Given the description of an element on the screen output the (x, y) to click on. 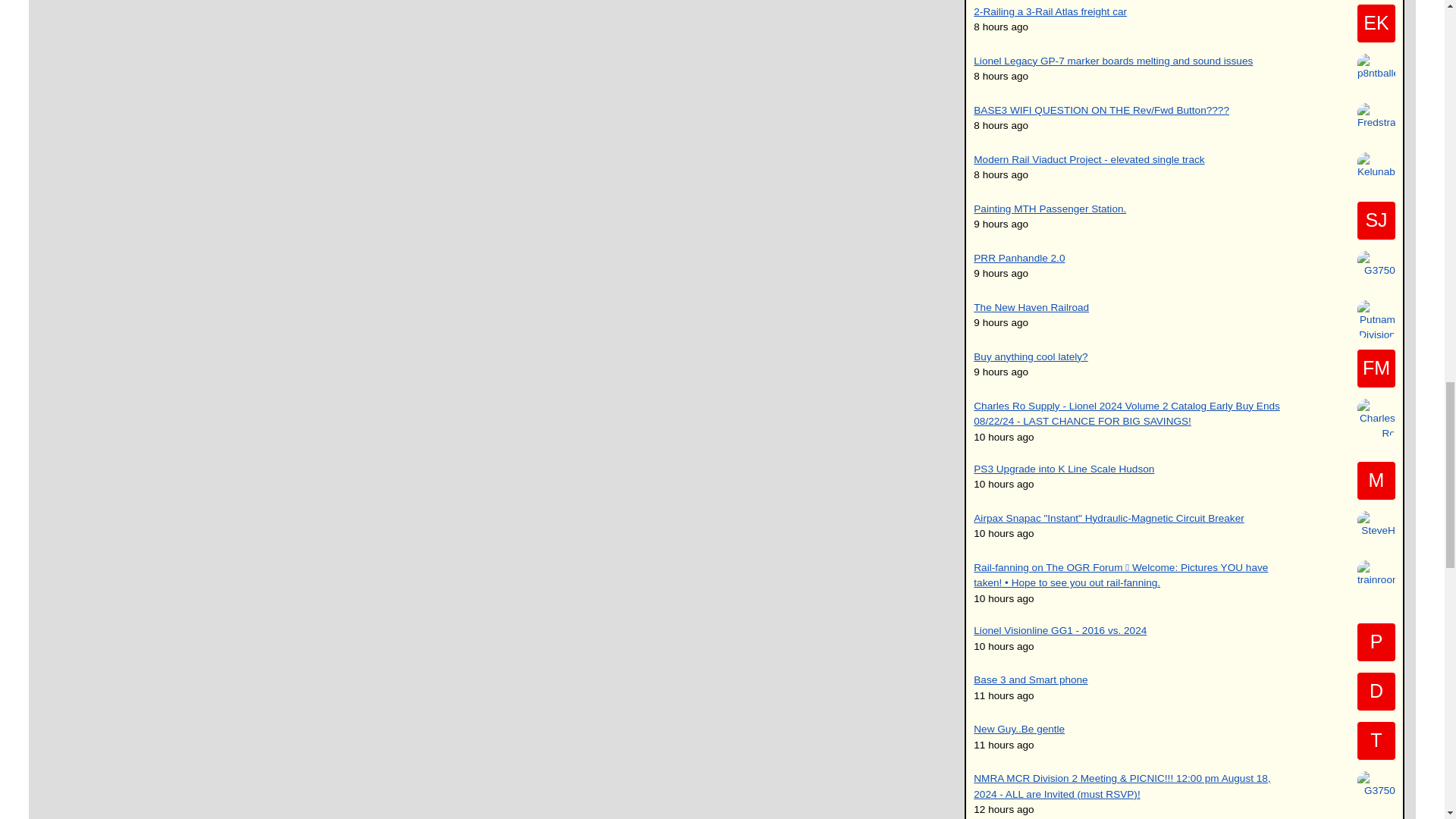
SJ (1375, 220)
P (1375, 641)
FM (1375, 368)
M (1375, 480)
D (1375, 691)
EK (1375, 23)
